Given the description of an element on the screen output the (x, y) to click on. 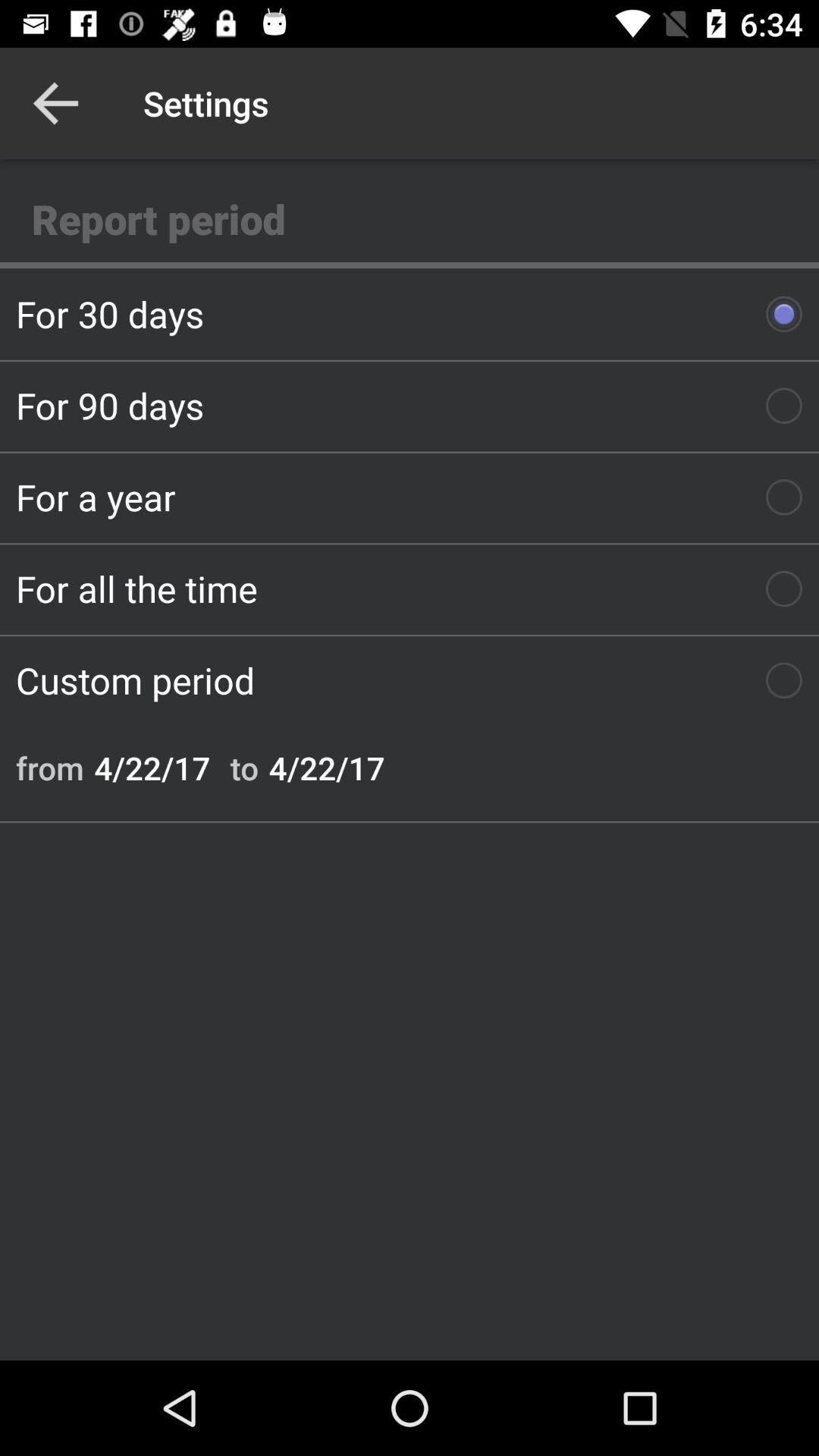
flip to custom period (409, 680)
